Given the description of an element on the screen output the (x, y) to click on. 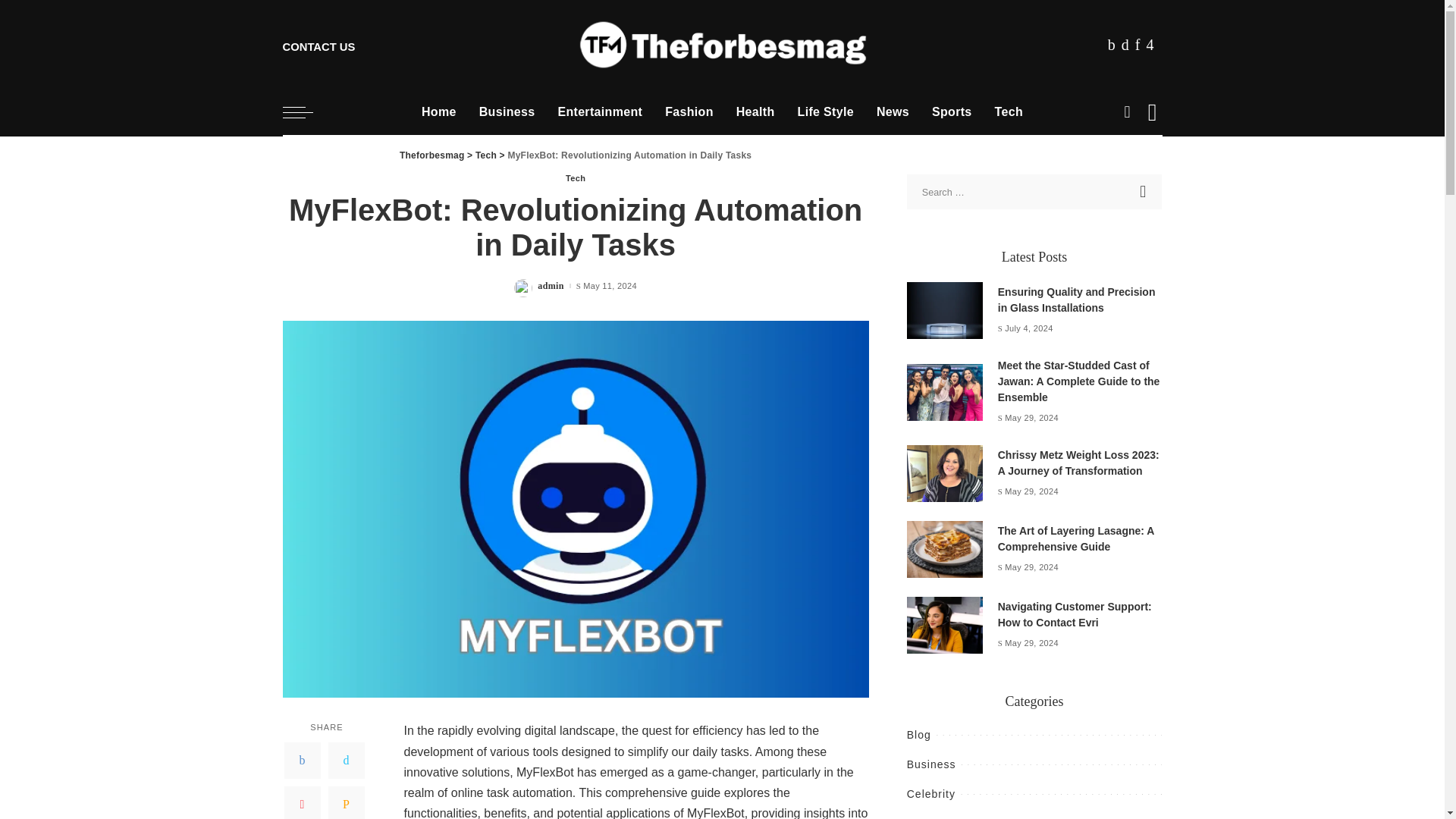
Theforbesmag (722, 44)
Health (755, 112)
Entertainment (599, 112)
Search (1143, 191)
Search (1143, 191)
CONTACT US (318, 44)
Fashion (689, 112)
Business (507, 112)
Life Style (825, 112)
Home (438, 112)
